Given the description of an element on the screen output the (x, y) to click on. 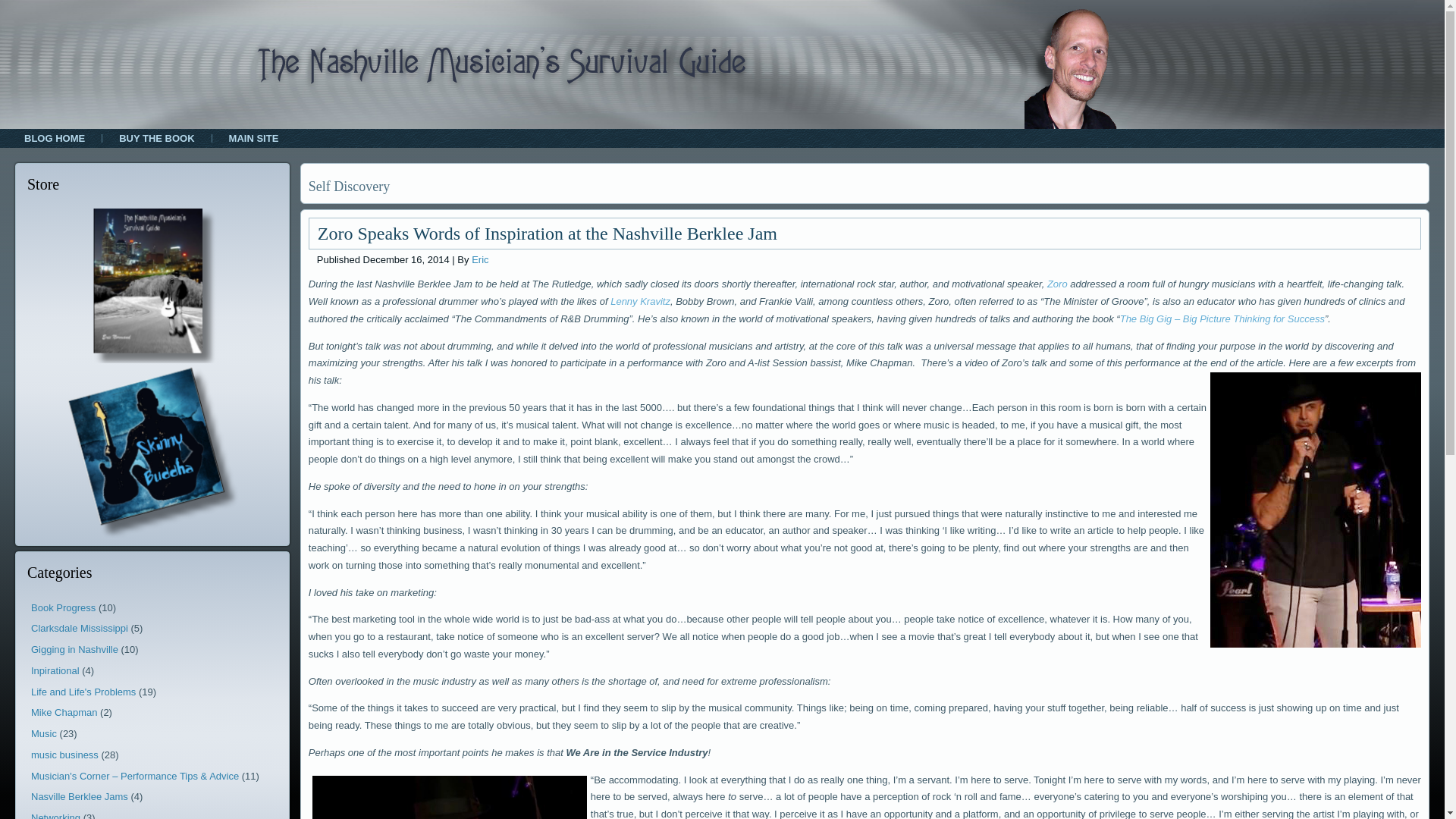
MAIN SITE (253, 138)
Eric (479, 259)
BUY THE BOOK (156, 138)
Music (43, 733)
8:10 am (405, 259)
Lenny Kravitz (639, 301)
Zoro (1056, 283)
View all posts by Eric (479, 259)
Blog Home (54, 138)
BLOG HOME (54, 138)
Clarksdale Mississippi (79, 627)
music business (64, 754)
Networking (55, 815)
